Given the description of an element on the screen output the (x, y) to click on. 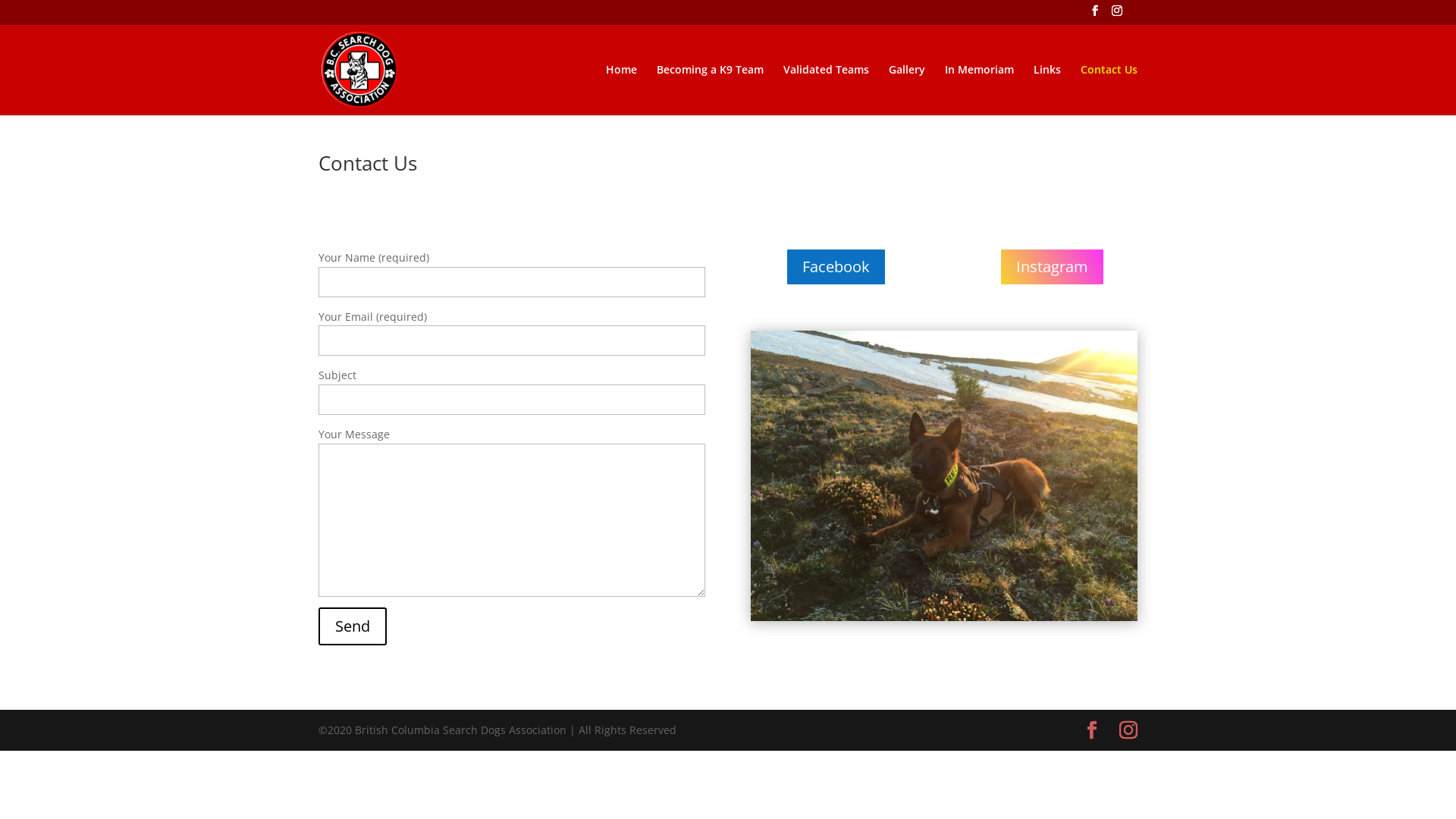
Send Element type: text (352, 626)
Links Element type: text (1046, 88)
In Memoriam Element type: text (978, 88)
Home Element type: text (621, 88)
Contact Us Element type: text (1108, 88)
Validated Teams Element type: text (826, 88)
Gallery Element type: text (906, 88)
153 Element type: hover (943, 475)
Instagram Element type: text (1051, 266)
Facebook Element type: text (835, 266)
Becoming a K9 Team Element type: text (709, 88)
